Given the description of an element on the screen output the (x, y) to click on. 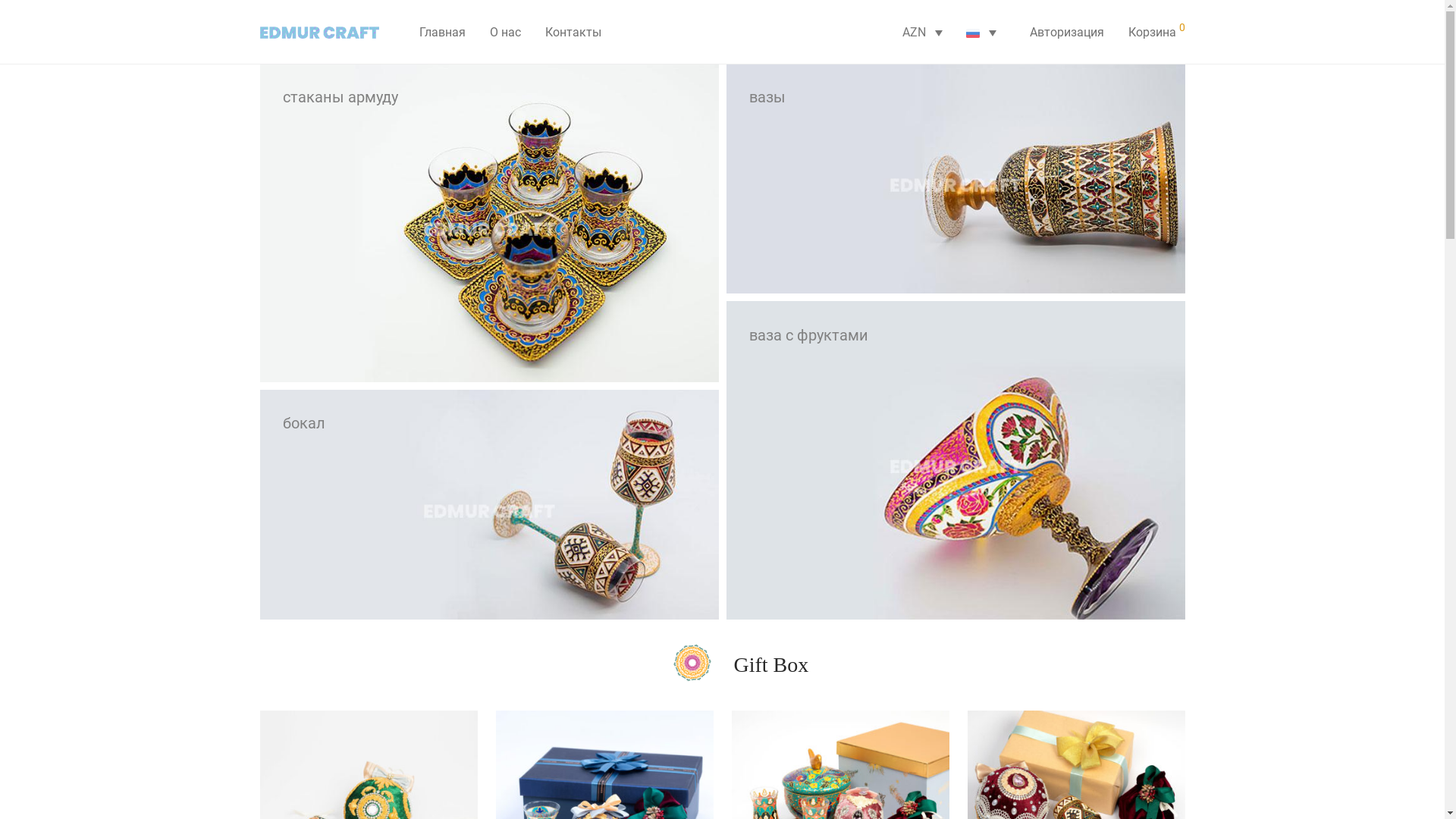
AZN Element type: text (920, 32)
p Element type: hover (692, 662)
